Given the description of an element on the screen output the (x, y) to click on. 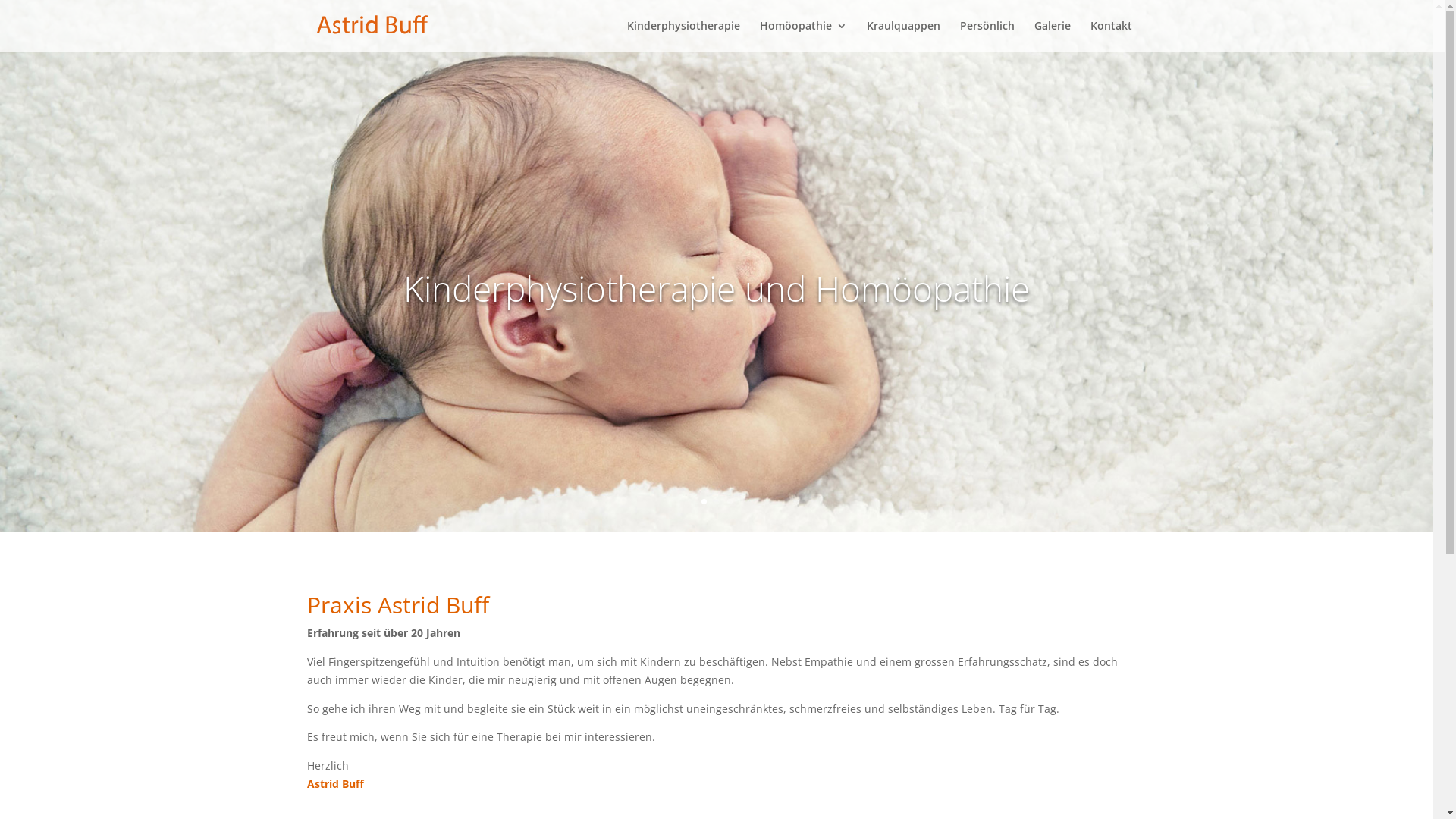
Kraulquappen Element type: text (902, 35)
2 Element type: text (716, 501)
1 Element type: text (703, 501)
Kontakt Element type: text (1111, 35)
Kinderphysiotherapie Element type: text (682, 35)
3 Element type: text (728, 501)
Galerie Element type: text (1052, 35)
